Given the description of an element on the screen output the (x, y) to click on. 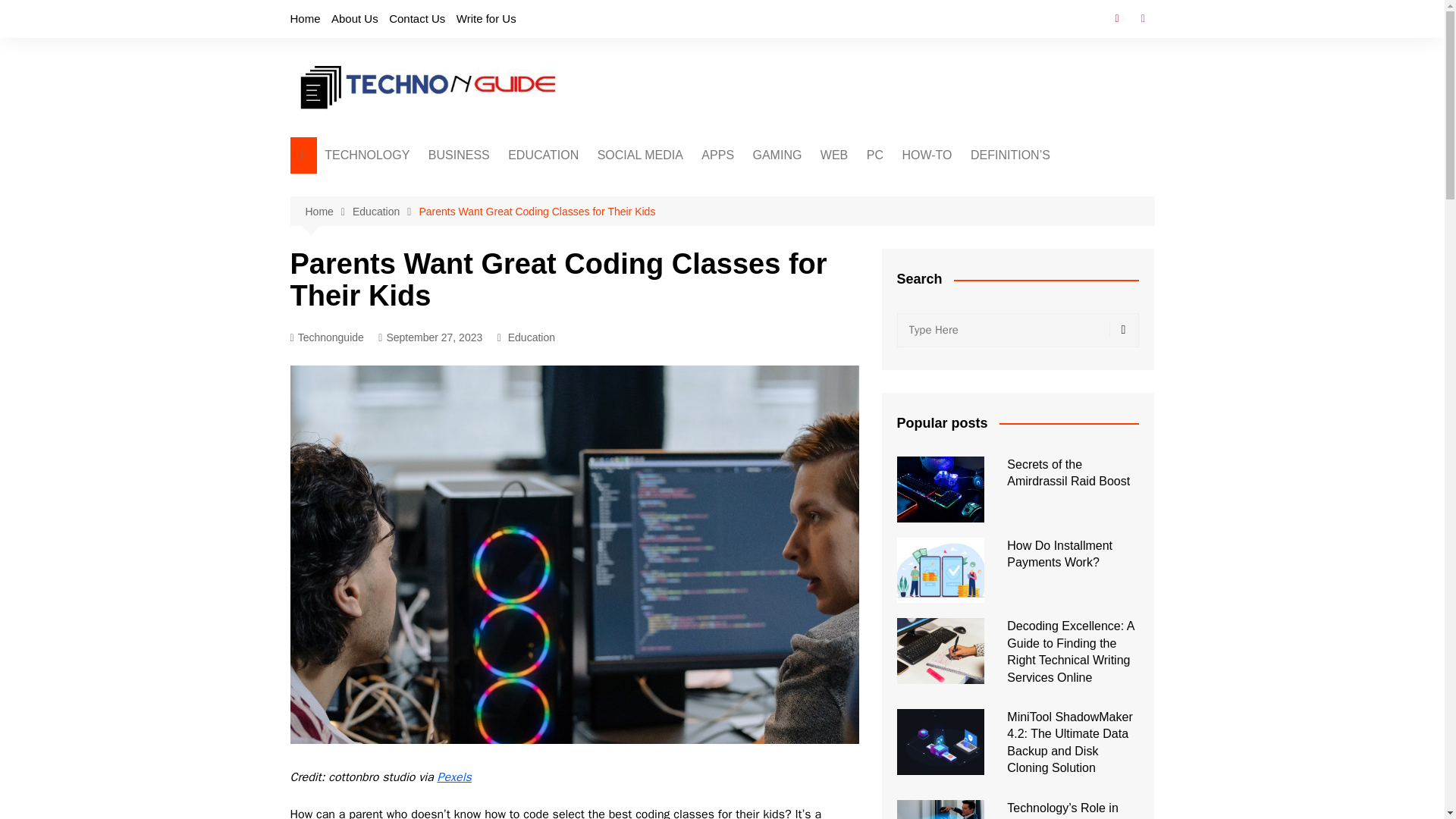
TECHNOLOGY (366, 155)
SOFTWARES (777, 186)
HOW-TO (926, 155)
ENTERTAINMENT (827, 186)
MOBILE (400, 273)
iOS (566, 299)
Home (304, 18)
ARTIFICIAL INTELLIGENCE (400, 192)
MAC (942, 211)
Facebook (1116, 18)
